Given the description of an element on the screen output the (x, y) to click on. 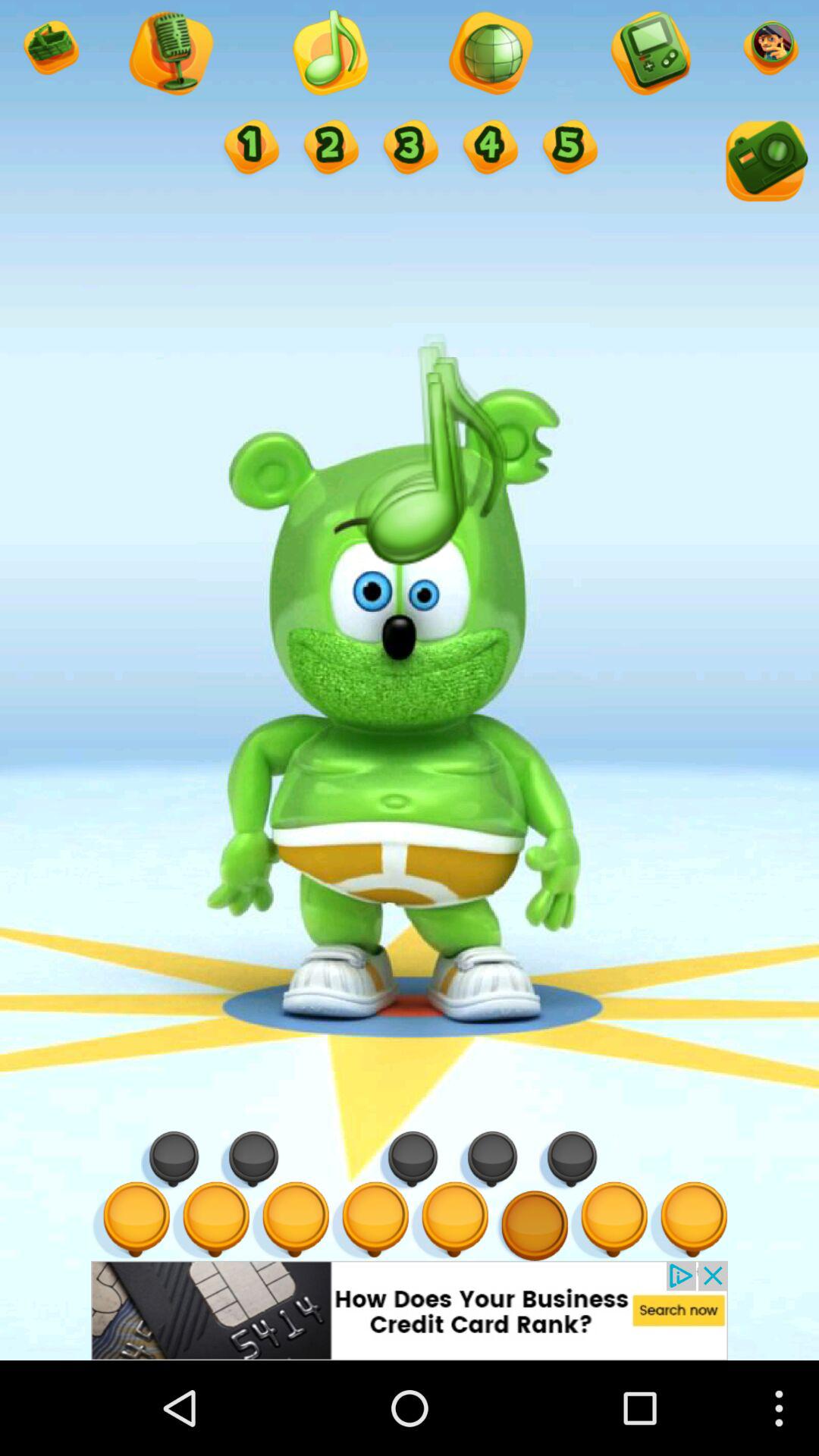
records audio (169, 55)
